Given the description of an element on the screen output the (x, y) to click on. 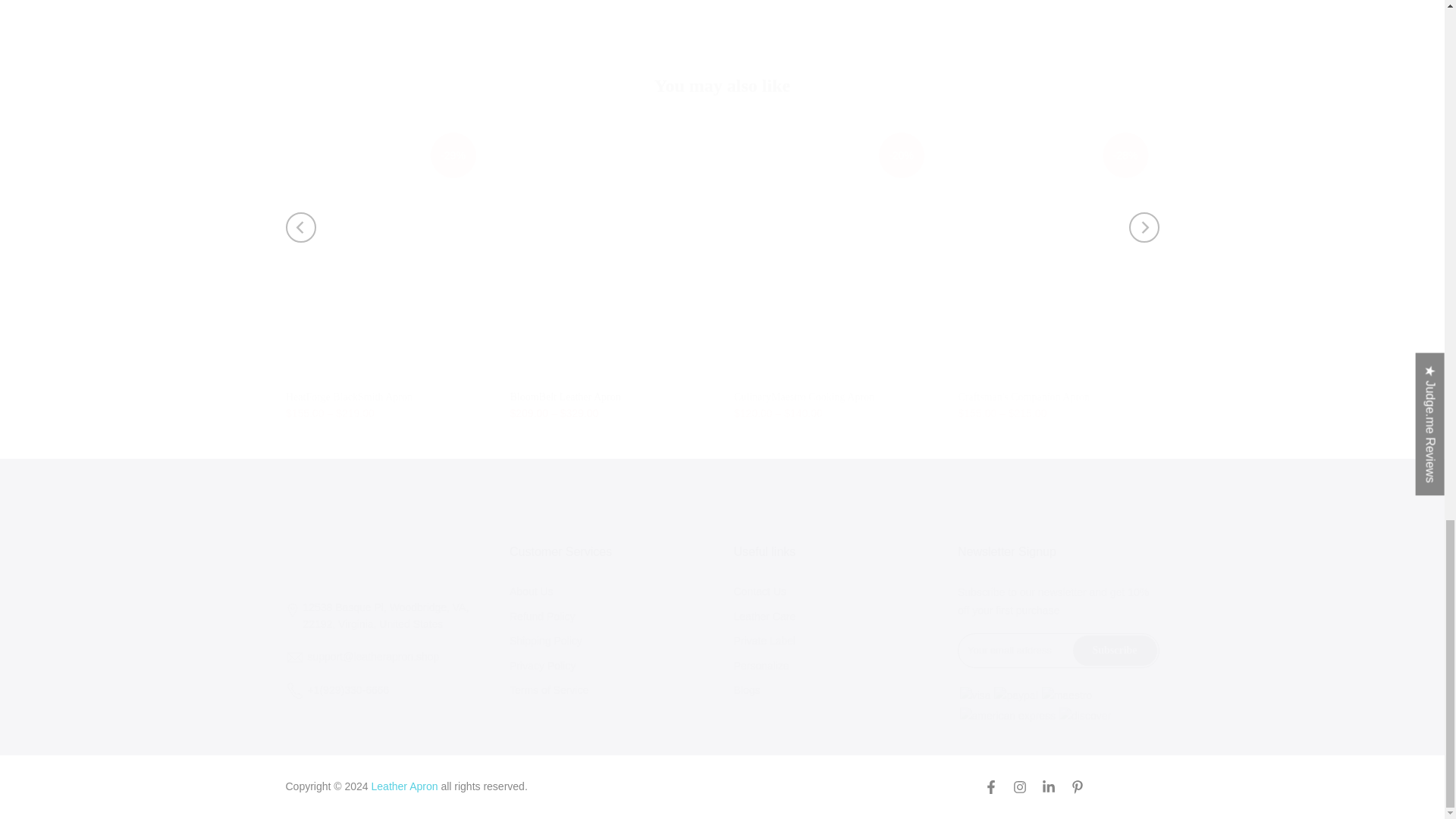
Follow on Linkedin (1048, 787)
Follow on Facebook (990, 787)
Follow on Instagram (1019, 787)
Follow on Pinterest (1077, 787)
